Given the description of an element on the screen output the (x, y) to click on. 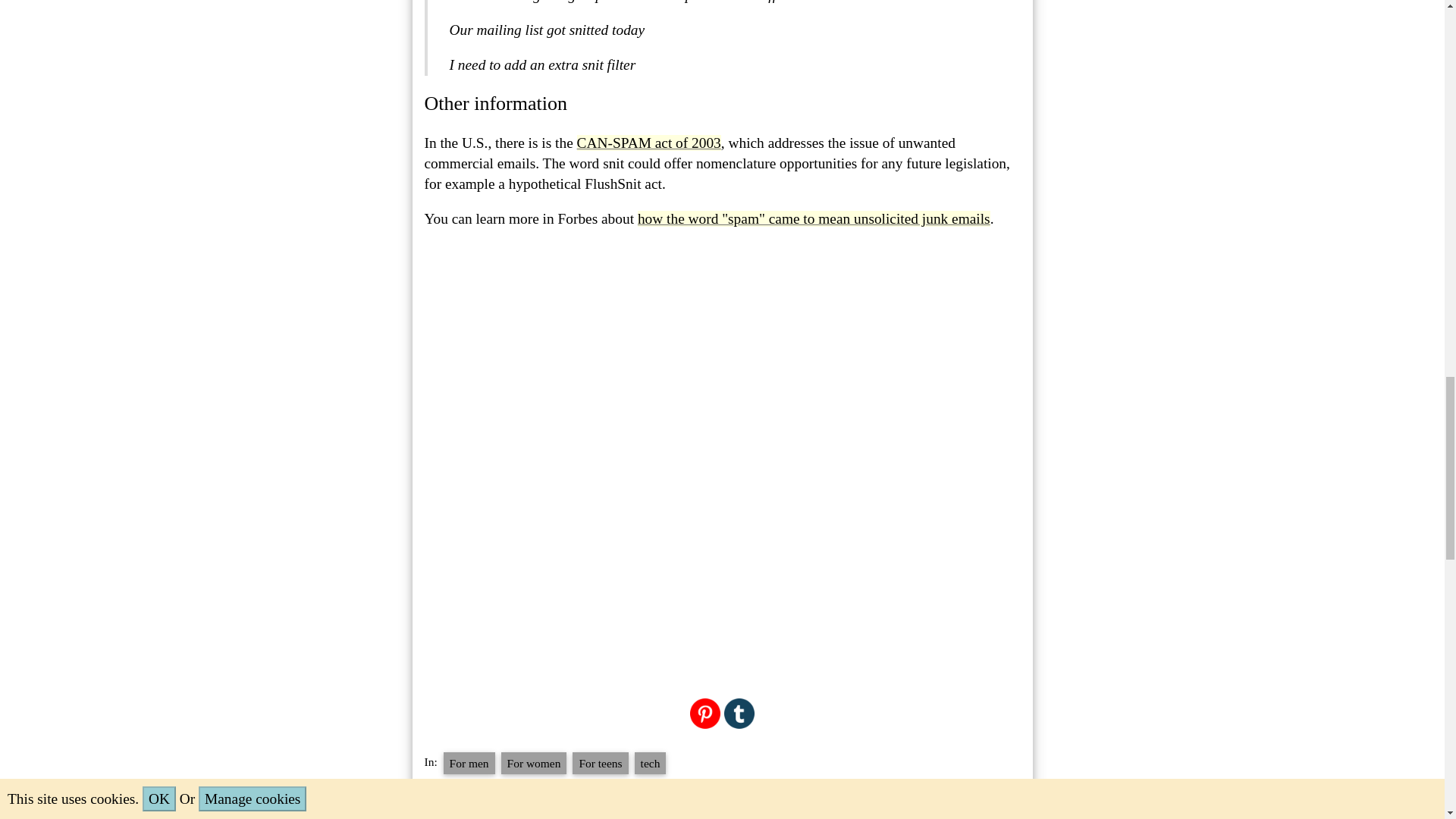
Share on Tumblr (738, 711)
CAN-SPAM act of 2003 (648, 142)
tech (650, 763)
how the word "spam" came to mean unsolicited junk emails (813, 218)
For men (469, 763)
For women (533, 763)
share on Pinterest (705, 711)
For teens (599, 763)
